Given the description of an element on the screen output the (x, y) to click on. 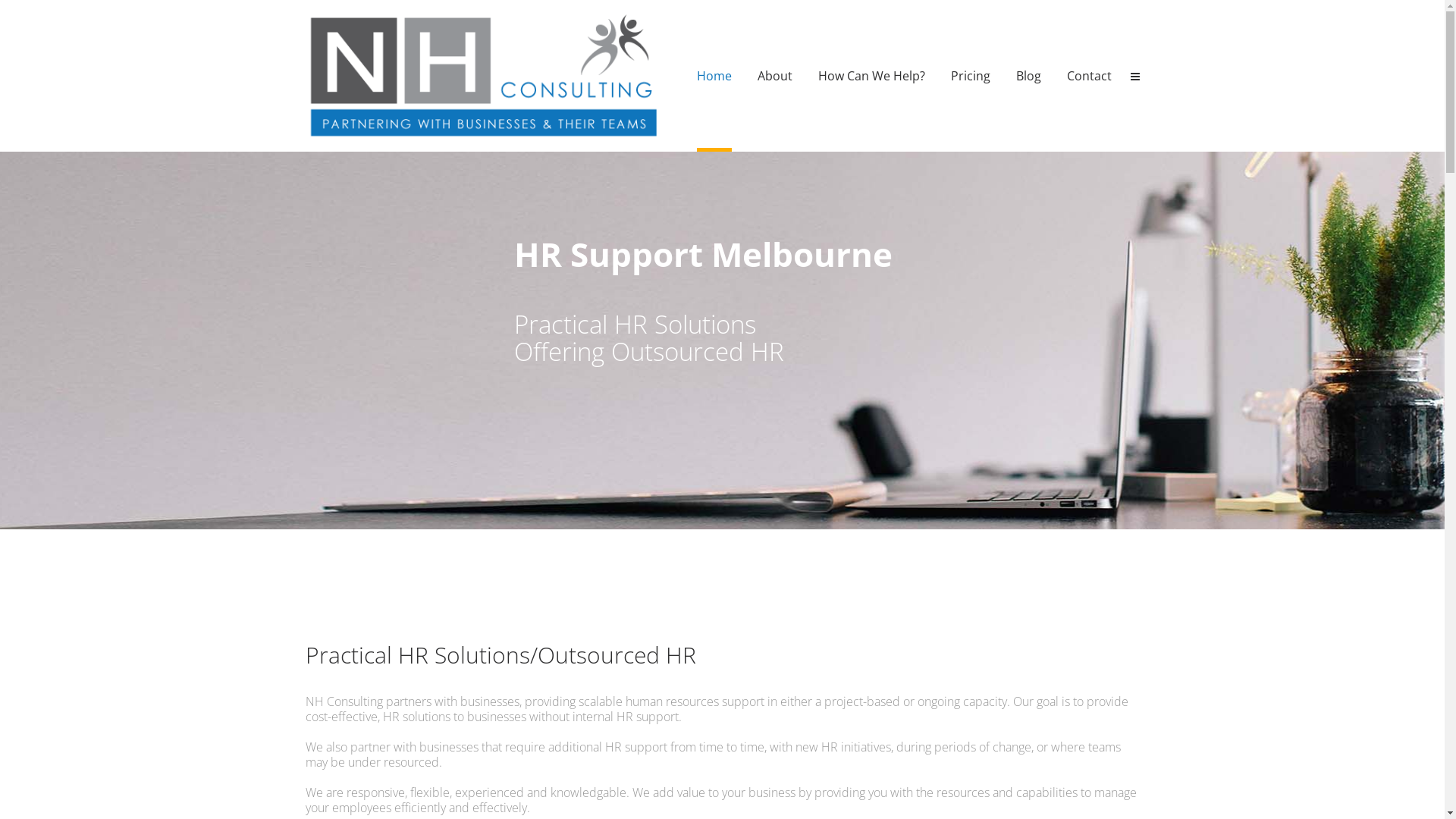
About Element type: text (773, 75)
Home Element type: text (713, 75)
Blog Element type: text (1028, 75)
Contact Element type: text (1088, 75)
Pricing Element type: text (970, 75)
How Can We Help? Element type: text (870, 75)
